Given the description of an element on the screen output the (x, y) to click on. 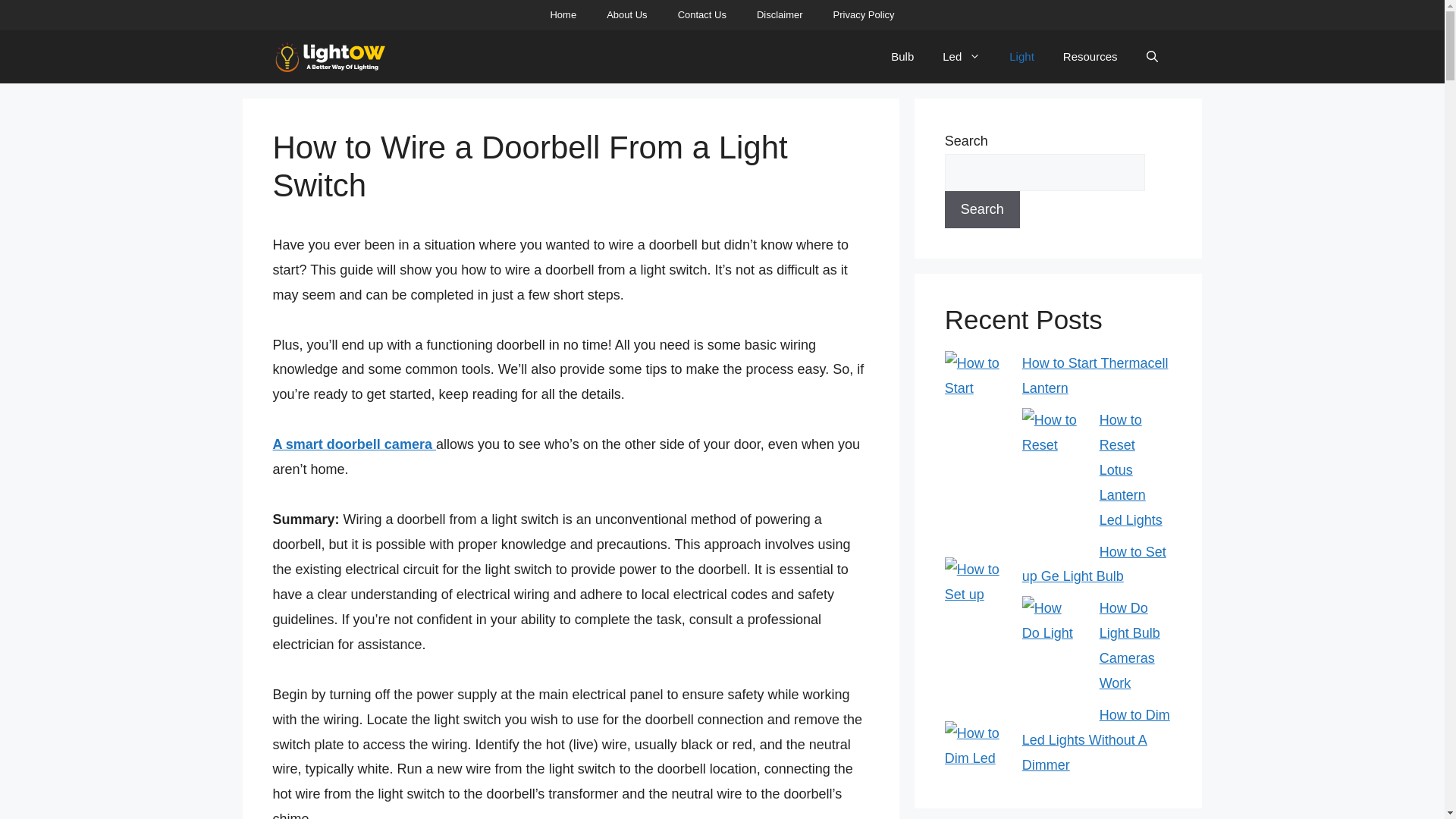
Led (961, 56)
Light (1021, 56)
How to Set up Ge Light Bulb (1094, 564)
Contact Us (701, 15)
Bulb (902, 56)
Lightow (330, 56)
Resources (1090, 56)
Search (982, 209)
How to Start Thermacell Lantern (1095, 375)
Disclaimer (779, 15)
